Given the description of an element on the screen output the (x, y) to click on. 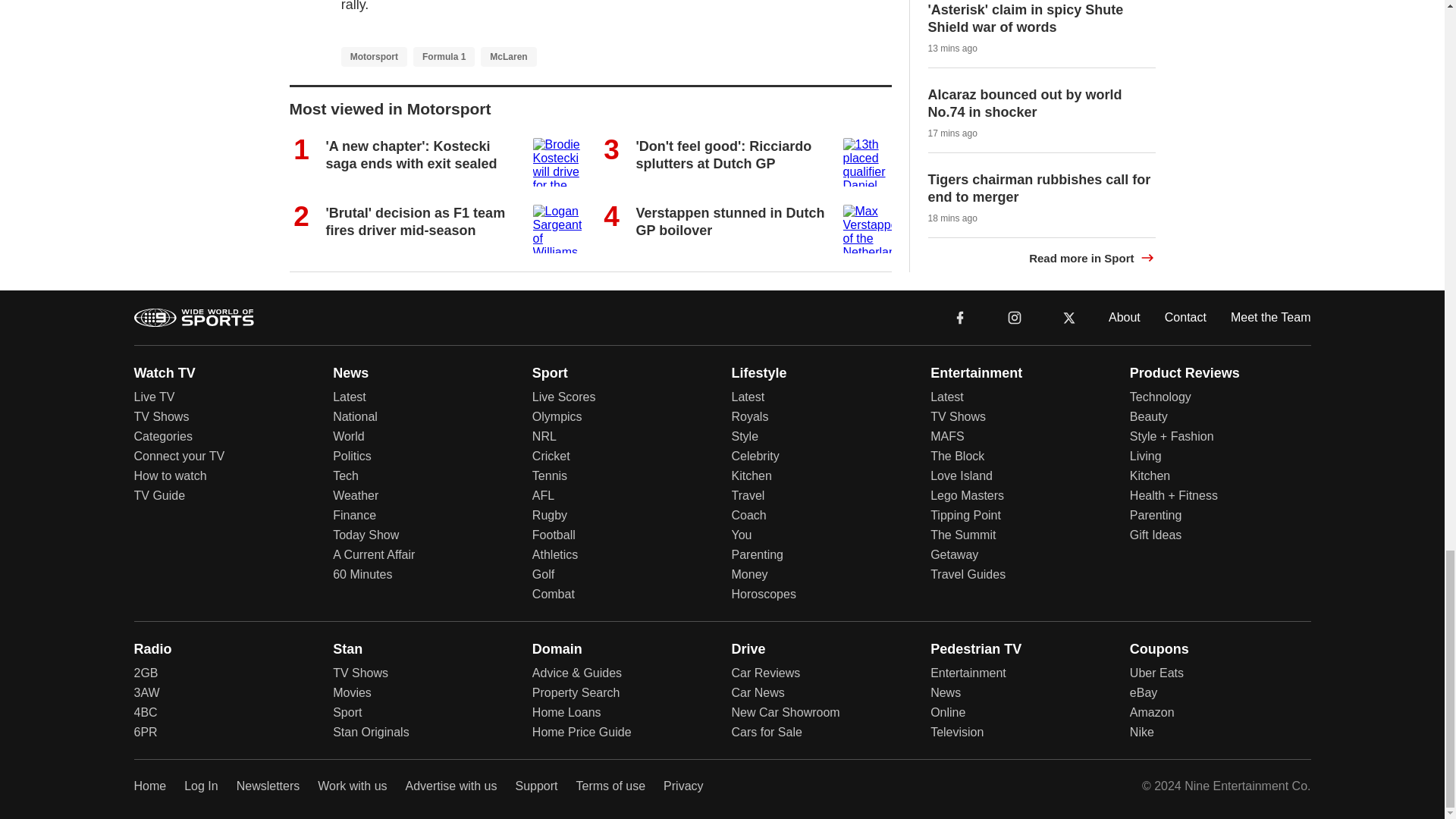
x (1069, 317)
'Don't feel good': Ricciardo splutters at Dutch GP (722, 154)
instagram (1014, 317)
McLaren (507, 56)
facebook (960, 317)
'Brutal' decision as F1 team fires driver mid-season (415, 221)
Formula 1 (443, 56)
Verstappen stunned in Dutch GP boilover (729, 221)
instagram (1013, 316)
Motorsport (373, 56)
